Given the description of an element on the screen output the (x, y) to click on. 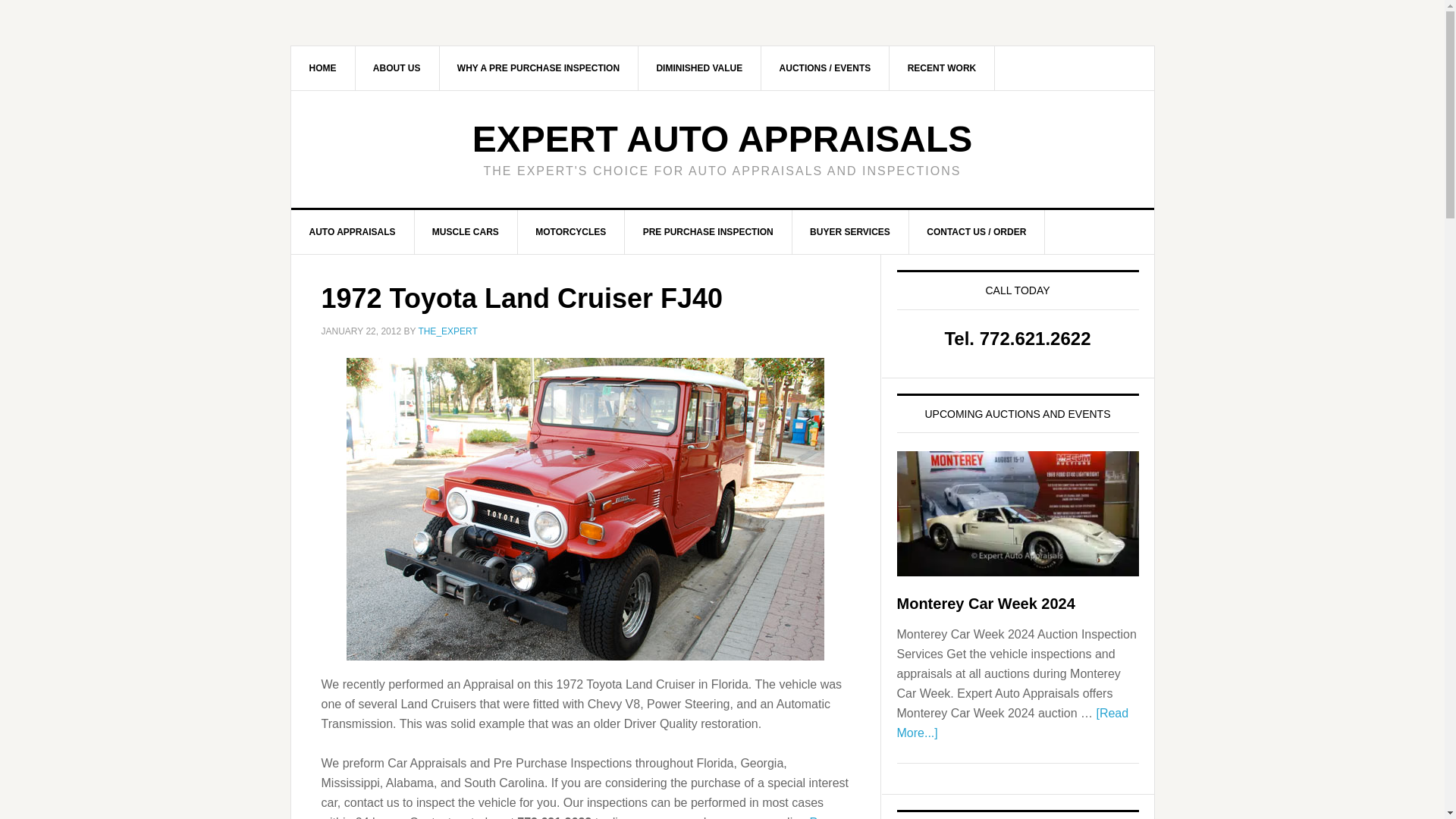
Ebay Buyer Services (850, 231)
DIMINISHED VALUE (699, 67)
ABOUT US (397, 67)
WHY A PRE PURCHASE INSPECTION (539, 67)
RECENT WORK (942, 67)
BUYER SERVICES (850, 231)
PRE PURCHASE INSPECTION (708, 231)
MOTORCYCLES (570, 231)
